Given the description of an element on the screen output the (x, y) to click on. 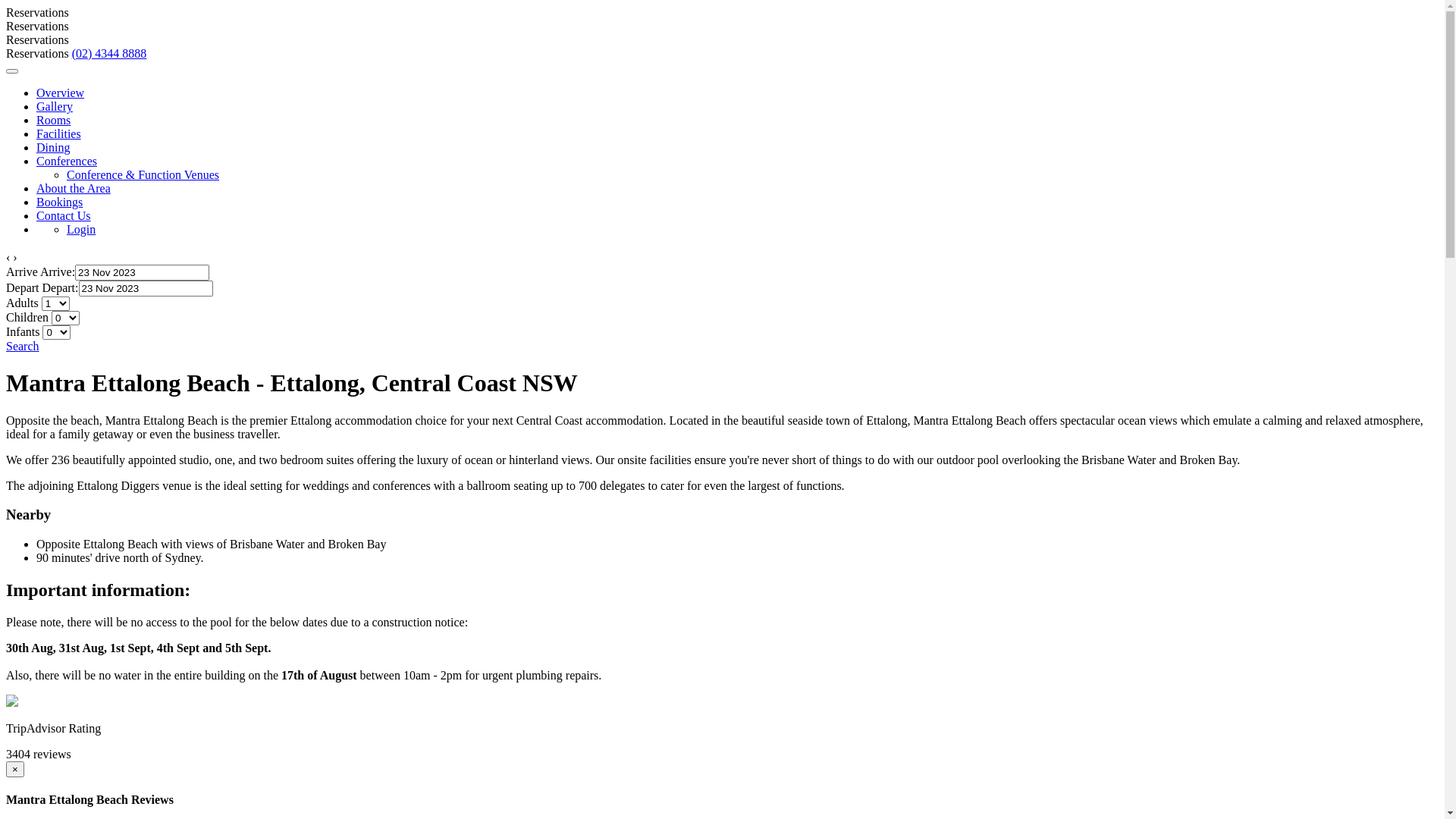
Facilities Element type: text (58, 133)
Login Element type: text (80, 228)
Contact Us Element type: text (63, 215)
Dining Element type: text (52, 147)
Bookings Element type: text (59, 201)
3404 reviews Element type: text (38, 753)
Overview Element type: text (60, 92)
Conferences Element type: text (66, 160)
(02) 4344 8888 Element type: text (109, 53)
Gallery Element type: text (54, 106)
Rooms Element type: text (53, 119)
About the Area Element type: text (73, 188)
Search Element type: text (22, 345)
Conference & Function Venues Element type: text (142, 174)
